Given the description of an element on the screen output the (x, y) to click on. 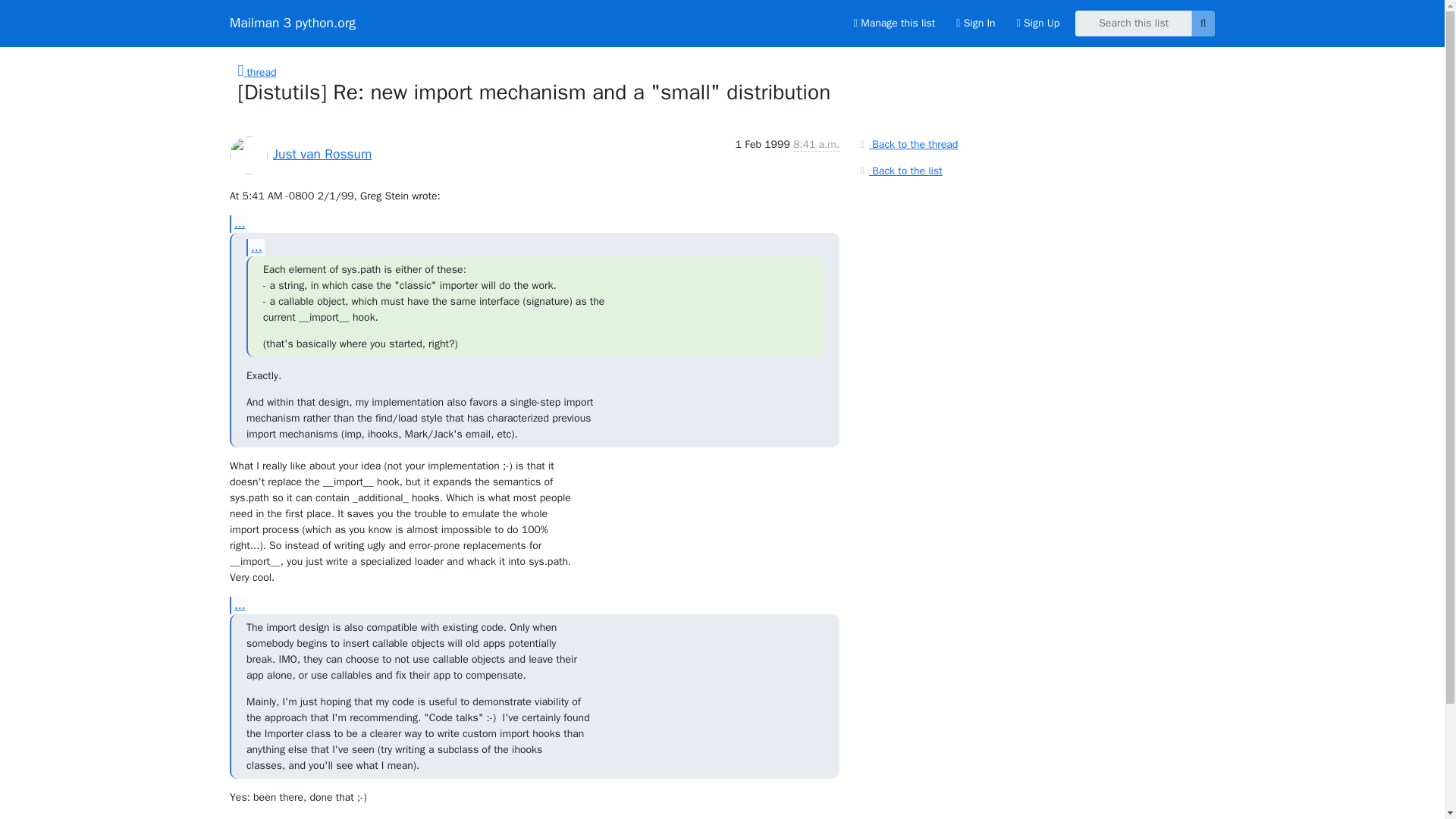
Back to the list (899, 169)
Mailman 3 python.org (292, 23)
See the profile for Just van Rossum (322, 153)
Manage this list (893, 22)
Back to the thread (907, 144)
Sign In (975, 22)
... (255, 247)
... (238, 605)
thread (257, 72)
Sender's time: Feb. 1, 1999, 3:41 p.m. (816, 144)
... (238, 223)
Just van Rossum (322, 153)
Sign Up (1038, 22)
